Given the description of an element on the screen output the (x, y) to click on. 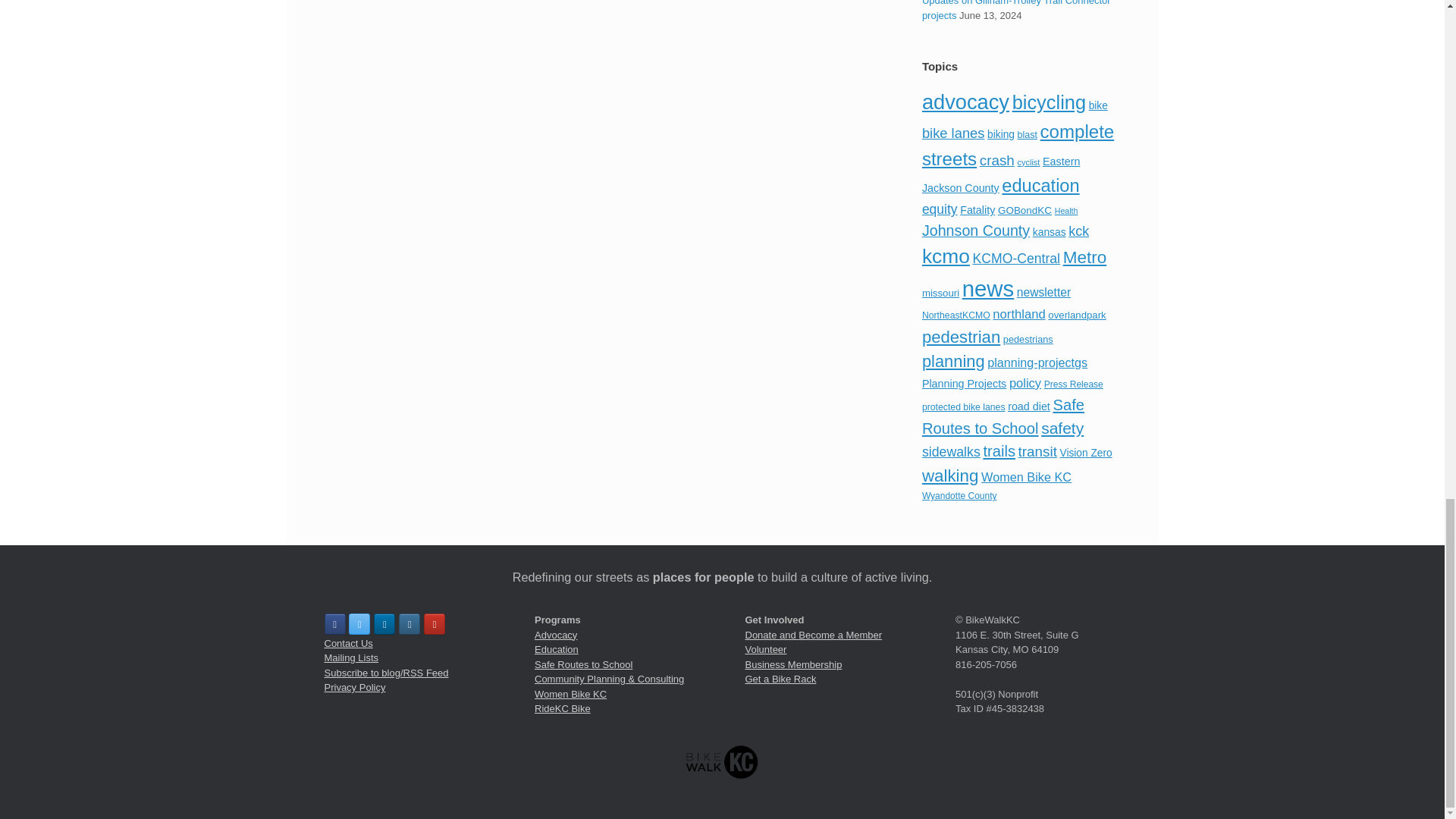
BikeWalkKC on Instagram (409, 623)
Contact Us (348, 643)
BikeWalkKC on Youtube (434, 623)
Education (556, 649)
BikeWalkKC on Linkedin (384, 623)
BikeWalkKC on Facebook (335, 623)
Women Bike KC (570, 694)
BikeWalkKC on X Twitter (359, 623)
Advocacy (555, 634)
